Given the description of an element on the screen output the (x, y) to click on. 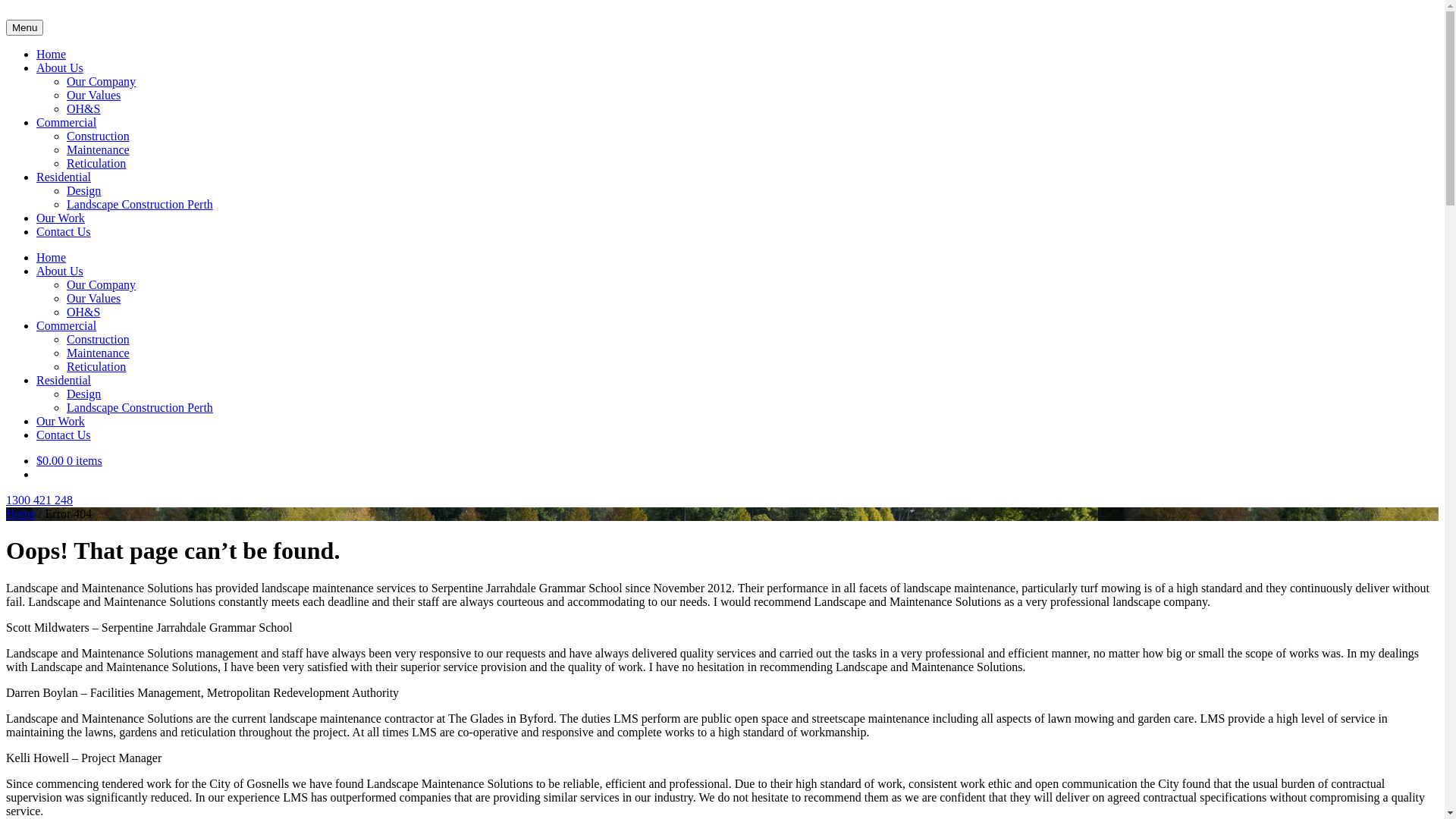
Contact Us Element type: text (63, 434)
$0.00 0 items Element type: text (69, 460)
Our Work Element type: text (60, 420)
Residential Element type: text (63, 176)
OH&S Element type: text (83, 311)
Our Values Element type: text (93, 297)
Design Element type: text (83, 393)
Landscape Construction Perth Element type: text (139, 407)
Reticulation Element type: text (95, 162)
Maintenance Element type: text (97, 352)
OH&S Element type: text (83, 108)
Maintenance Element type: text (97, 149)
Our Company Element type: text (100, 284)
Home Element type: text (50, 53)
Home Element type: text (50, 257)
Commercial Element type: text (66, 325)
Home Element type: text (20, 513)
Our Company Element type: text (100, 81)
About Us Element type: text (59, 67)
Menu Element type: text (24, 27)
Contact Us Element type: text (63, 231)
Our Work Element type: text (60, 217)
1300 421 248 Element type: text (39, 499)
About Us Element type: text (59, 270)
Landscape Construction Perth Element type: text (139, 203)
Commercial Element type: text (66, 122)
Construction Element type: text (97, 338)
Design Element type: text (83, 190)
Construction Element type: text (97, 135)
Our Values Element type: text (93, 94)
Reticulation Element type: text (95, 366)
Residential Element type: text (63, 379)
